Given the description of an element on the screen output the (x, y) to click on. 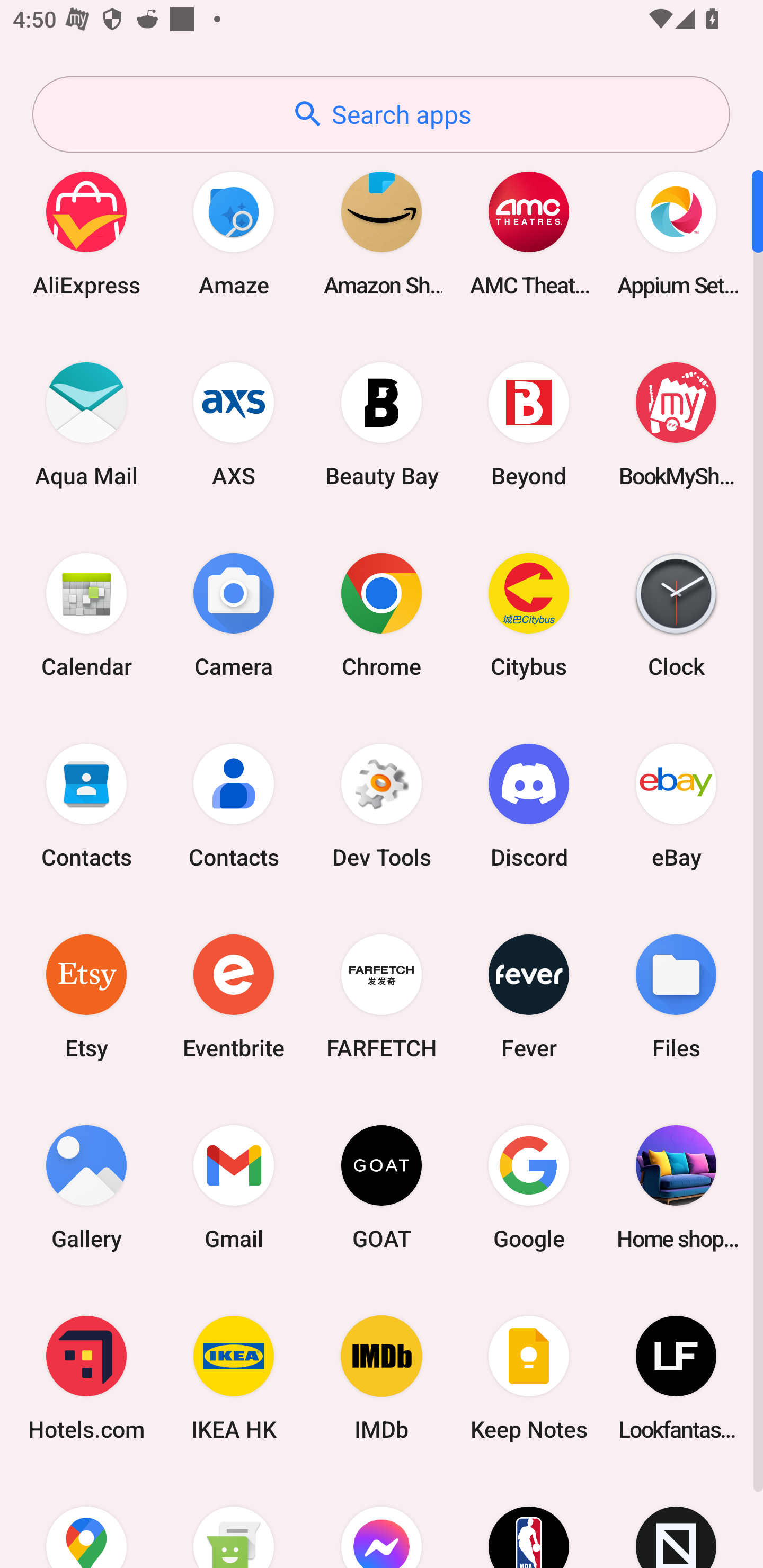
  Search apps (381, 114)
AliExpress (86, 233)
Amaze (233, 233)
Amazon Shopping (381, 233)
AMC Theatres (528, 233)
Appium Settings (676, 233)
Aqua Mail (86, 424)
AXS (233, 424)
Beauty Bay (381, 424)
Beyond (528, 424)
BookMyShow (676, 424)
Calendar (86, 614)
Camera (233, 614)
Chrome (381, 614)
Citybus (528, 614)
Clock (676, 614)
Contacts (86, 805)
Contacts (233, 805)
Dev Tools (381, 805)
Discord (528, 805)
eBay (676, 805)
Etsy (86, 996)
Eventbrite (233, 996)
FARFETCH (381, 996)
Fever (528, 996)
Files (676, 996)
Gallery (86, 1186)
Gmail (233, 1186)
GOAT (381, 1186)
Google (528, 1186)
Home shopping (676, 1186)
Hotels.com (86, 1377)
IKEA HK (233, 1377)
IMDb (381, 1377)
Keep Notes (528, 1377)
Lookfantastic (676, 1377)
